Given the description of an element on the screen output the (x, y) to click on. 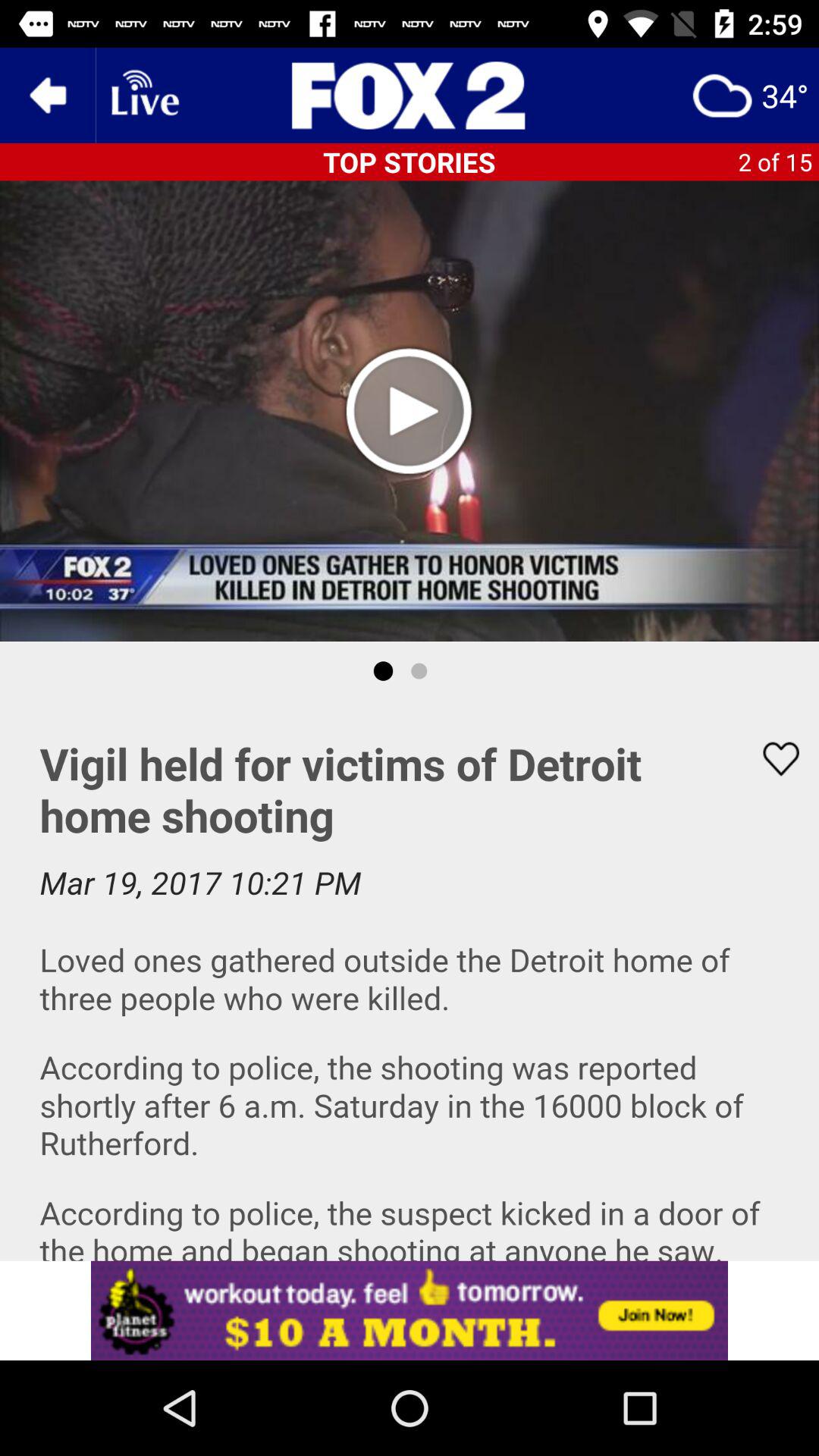
back (47, 95)
